Given the description of an element on the screen output the (x, y) to click on. 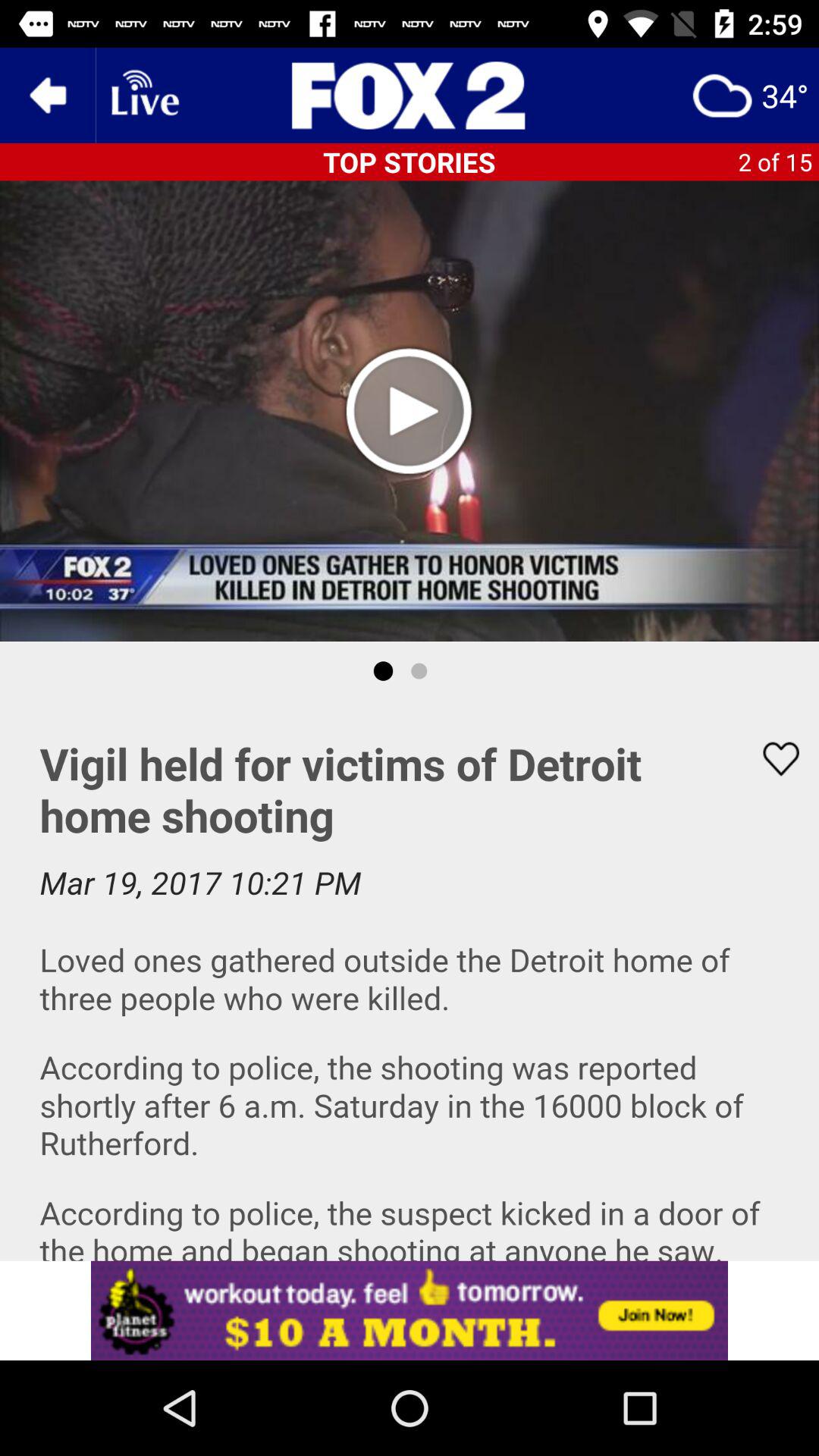
back (47, 95)
